Given the description of an element on the screen output the (x, y) to click on. 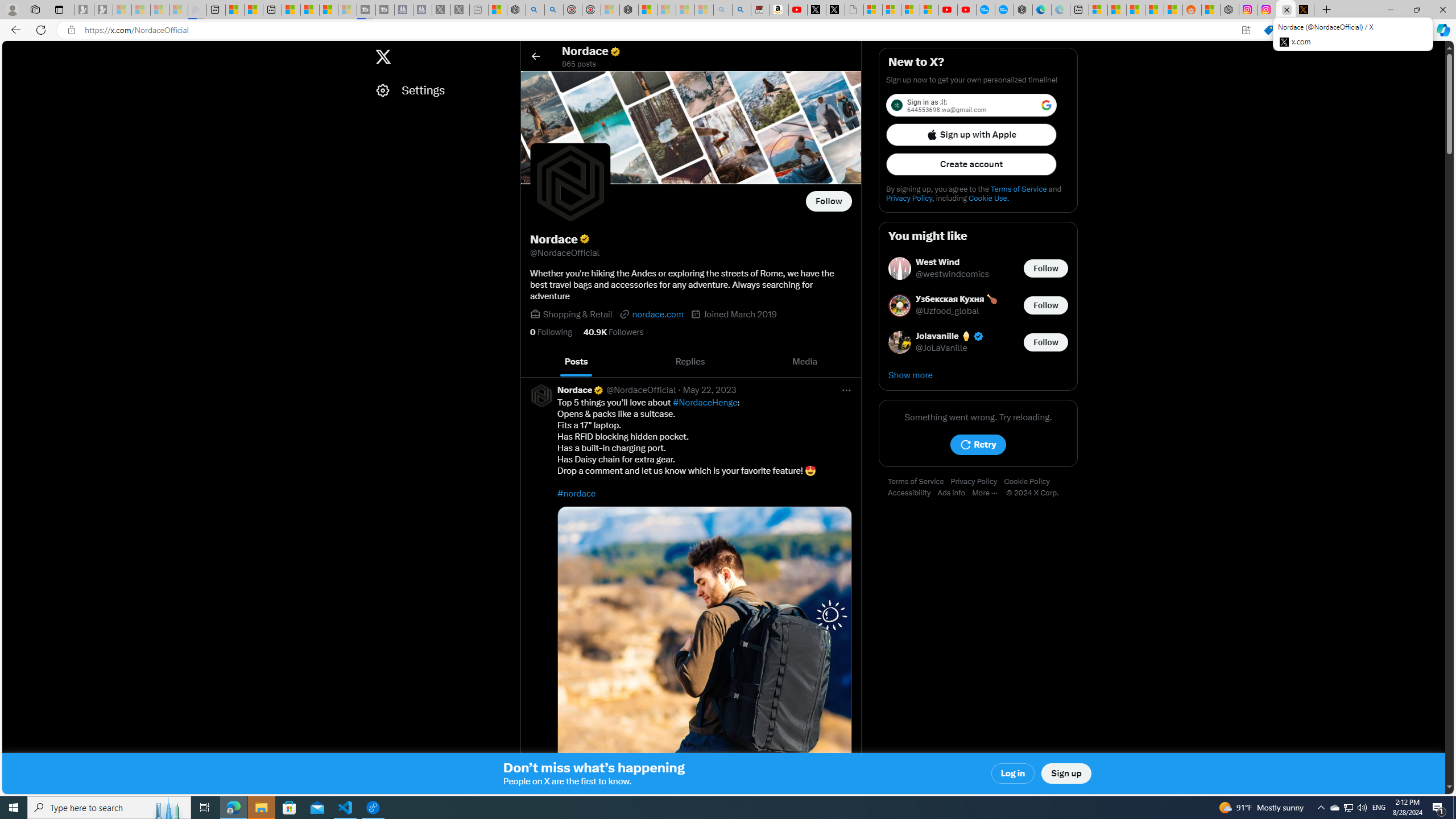
Posts (576, 361)
#NordaceHenge (705, 402)
Replies (689, 361)
Previous (532, 361)
Amazon Echo Dot PNG - Search Images (741, 9)
Shanghai, China Weather trends | Microsoft Weather (1173, 9)
